Given the description of an element on the screen output the (x, y) to click on. 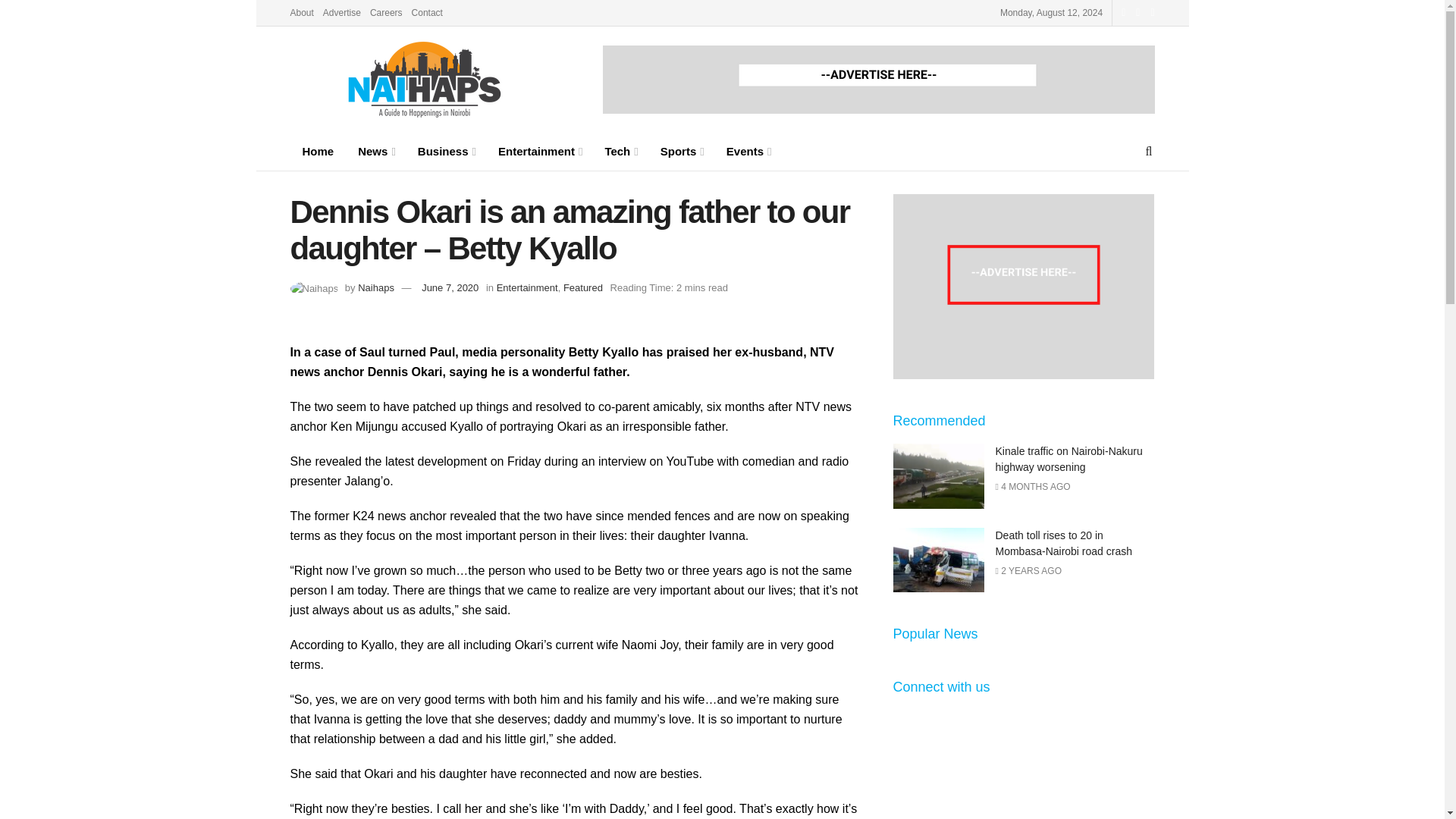
Careers (386, 12)
Home (317, 151)
News (376, 151)
Contact (427, 12)
Advertise (342, 12)
About (301, 12)
